Given the description of an element on the screen output the (x, y) to click on. 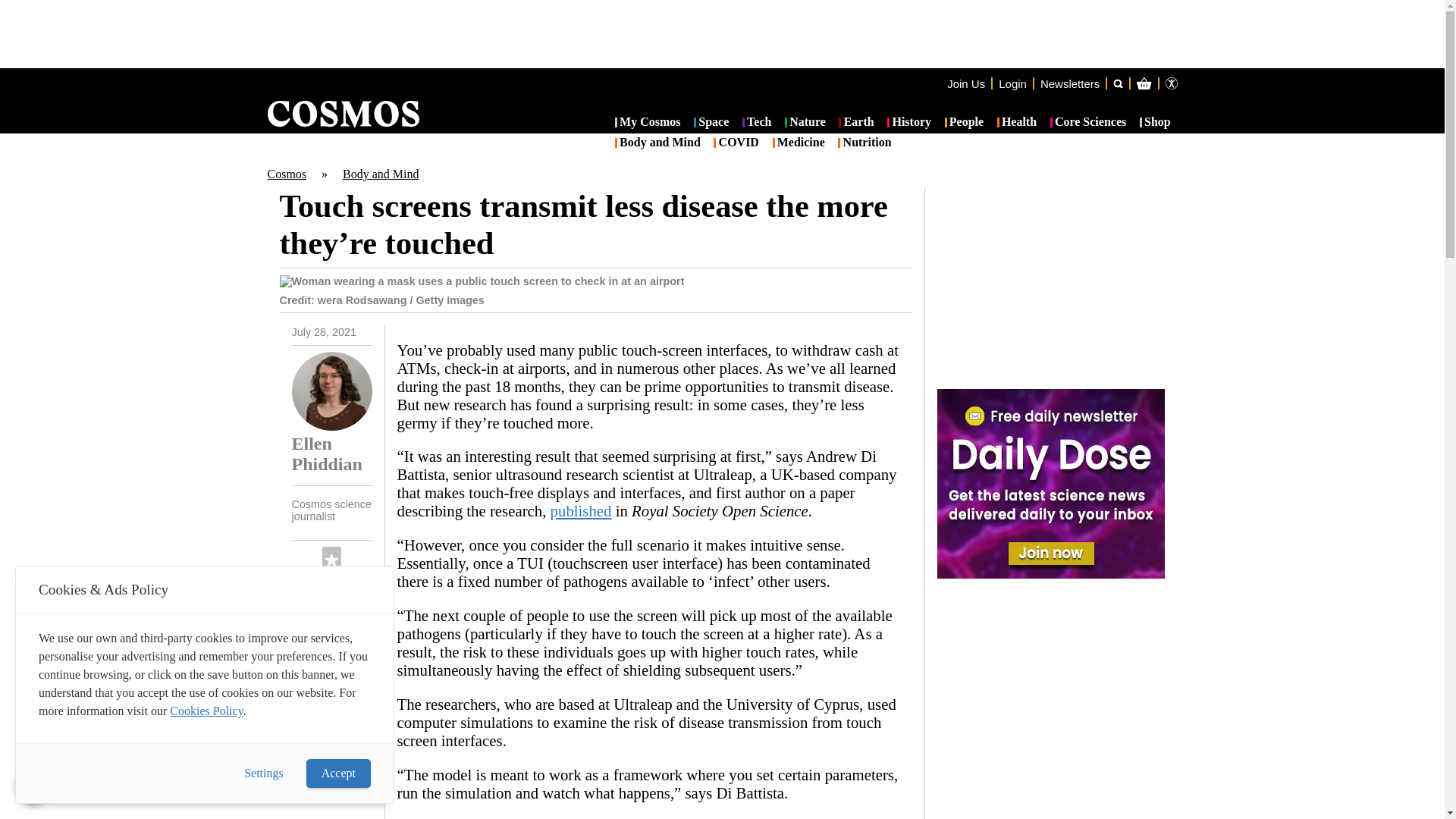
My Cosmos (647, 122)
Join Us (966, 82)
COVID (735, 143)
Cart (1223, 144)
Nature (804, 122)
History (908, 122)
Nutrition (864, 143)
Newsletters (1070, 82)
Health (1016, 122)
Space (711, 122)
